Given the description of an element on the screen output the (x, y) to click on. 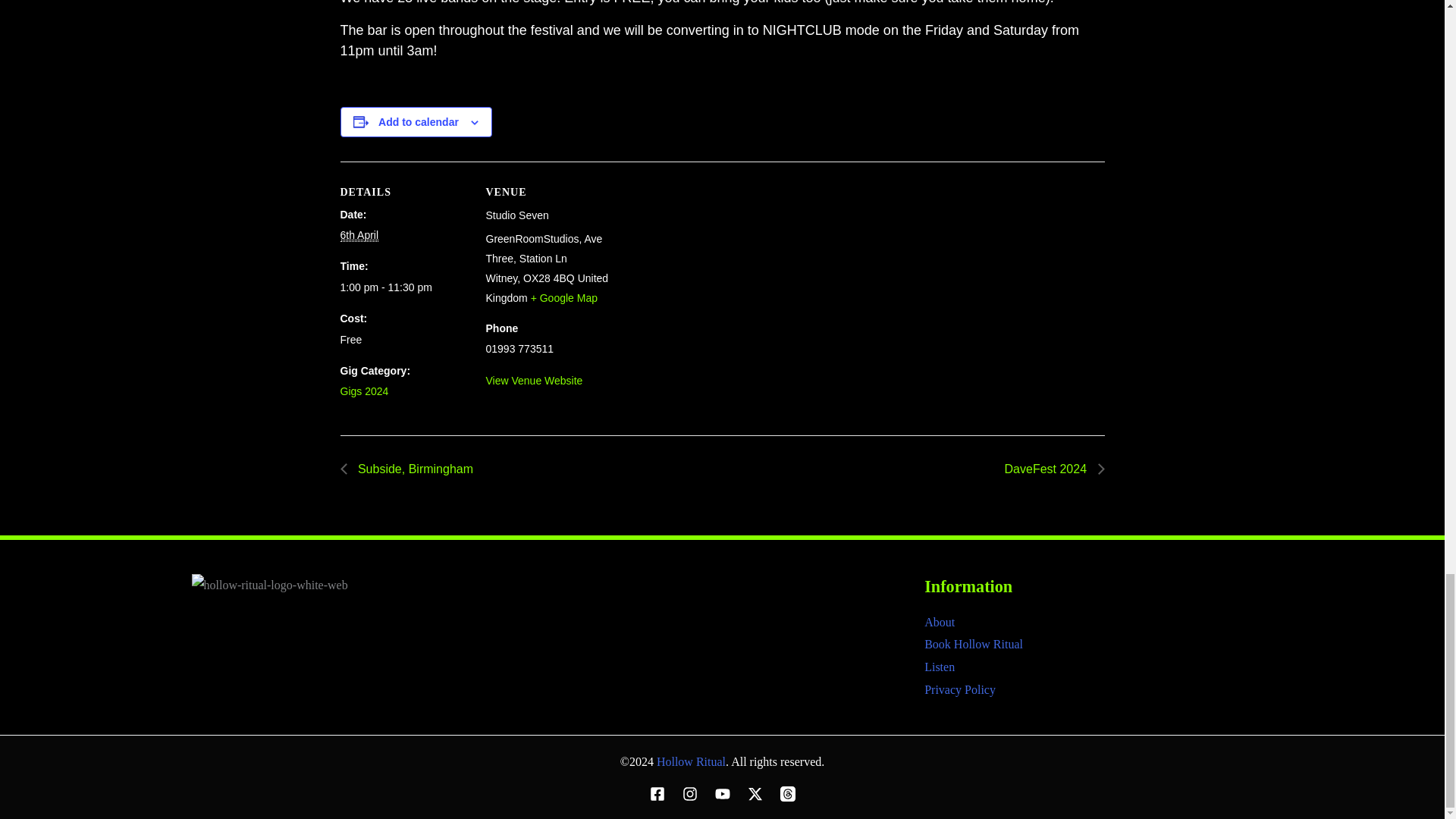
Add to calendar (418, 121)
DaveFest 2024 (1050, 468)
Google maps iframe displaying the address to Studio Seven (710, 266)
2024-04-06 (403, 288)
About (939, 621)
View Venue Website (533, 380)
Subside, Birmingham (410, 468)
Click to view a Google Map (563, 297)
2024-04-06 (358, 235)
Gigs 2024 (363, 390)
